Given the description of an element on the screen output the (x, y) to click on. 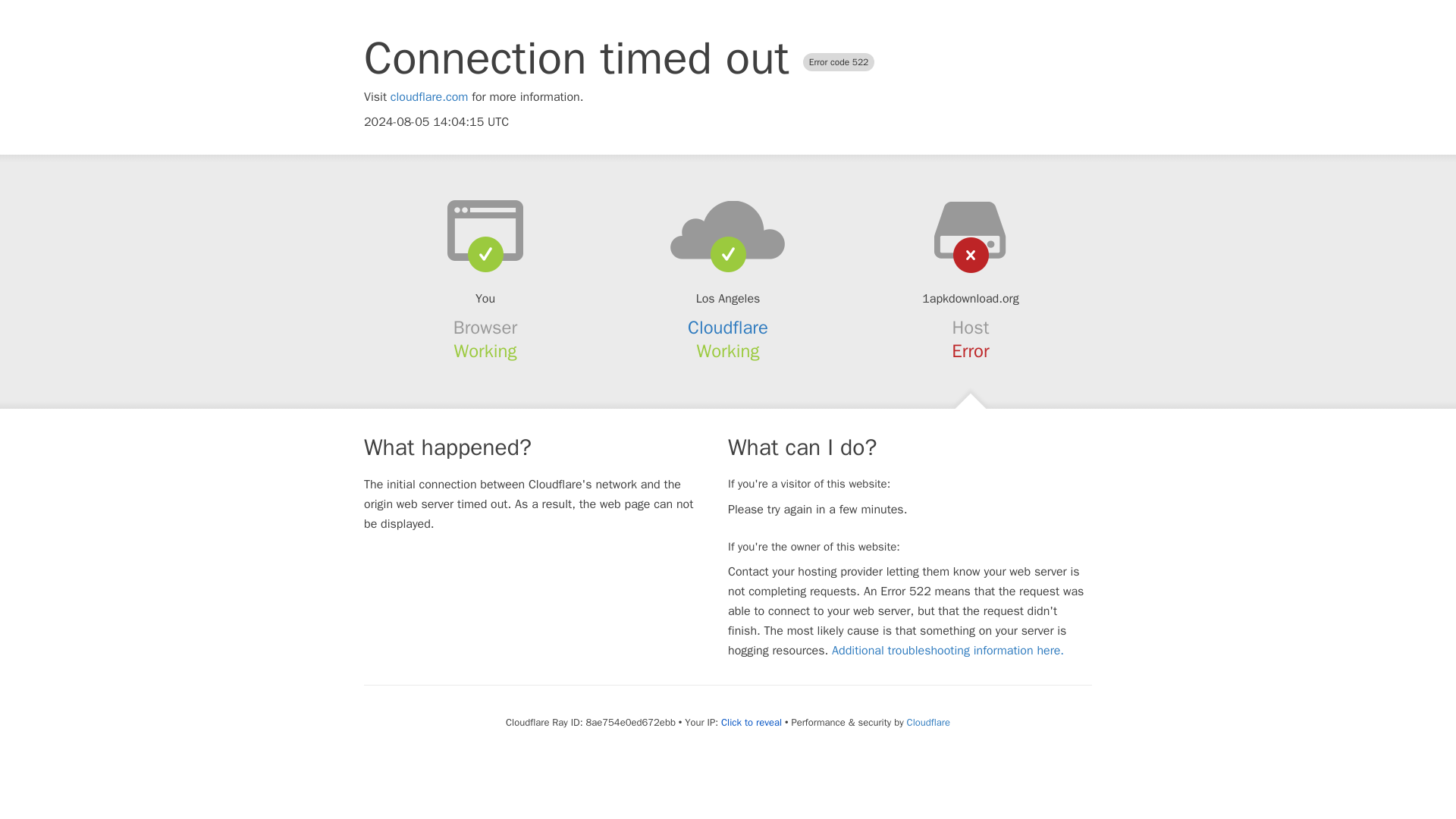
Cloudflare (727, 327)
cloudflare.com (429, 96)
Additional troubleshooting information here. (947, 650)
Click to reveal (750, 722)
Cloudflare (928, 721)
